Given the description of an element on the screen output the (x, y) to click on. 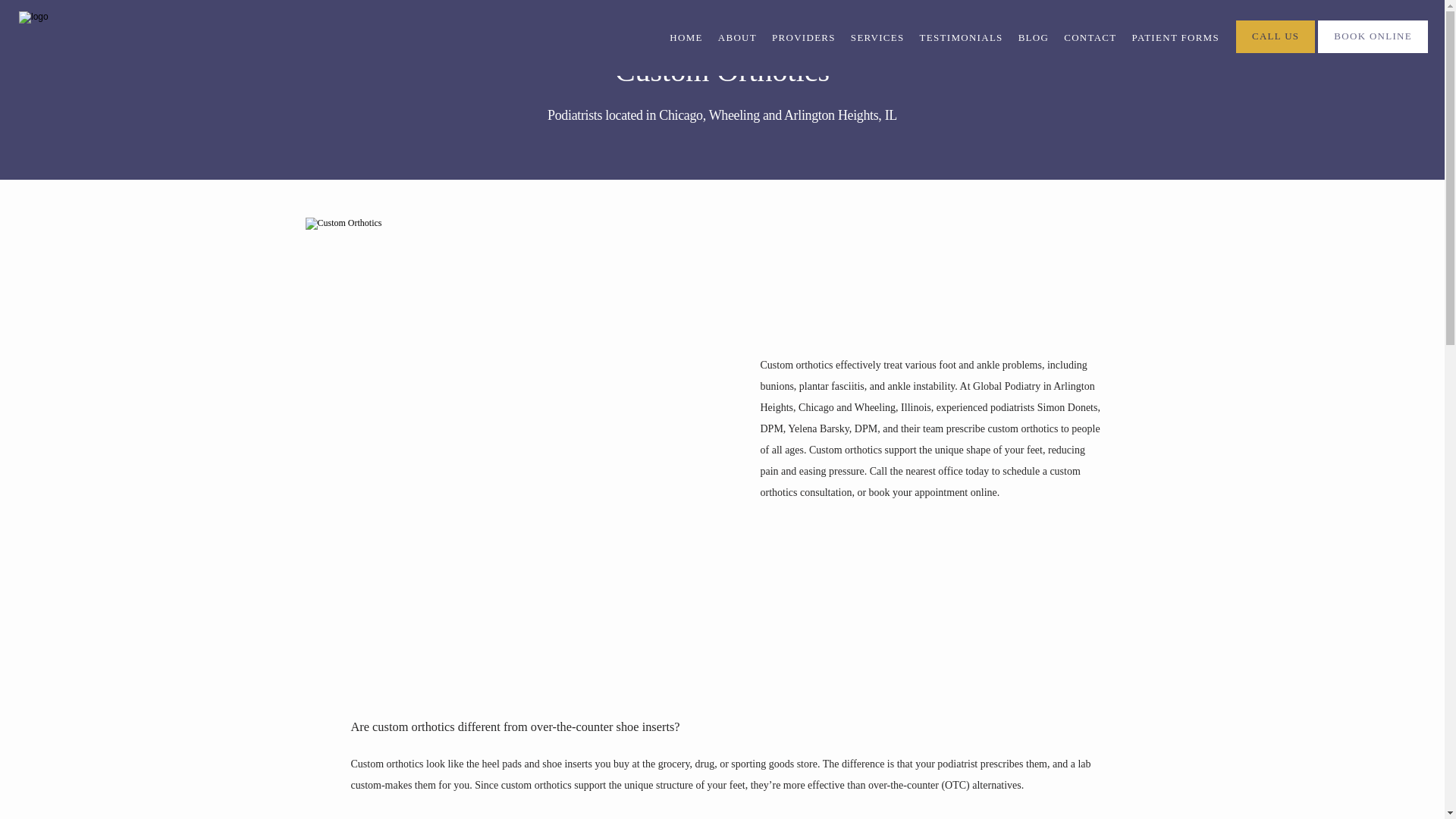
ABOUT (737, 37)
HOME (685, 37)
BLOG (1033, 37)
CONTACT (1090, 37)
TESTIMONIALS (961, 37)
SERVICES (877, 37)
BOOK ONLINE (1372, 50)
PATIENT FORMS (1176, 37)
CALL US (1275, 50)
PROVIDERS (803, 37)
